Given the description of an element on the screen output the (x, y) to click on. 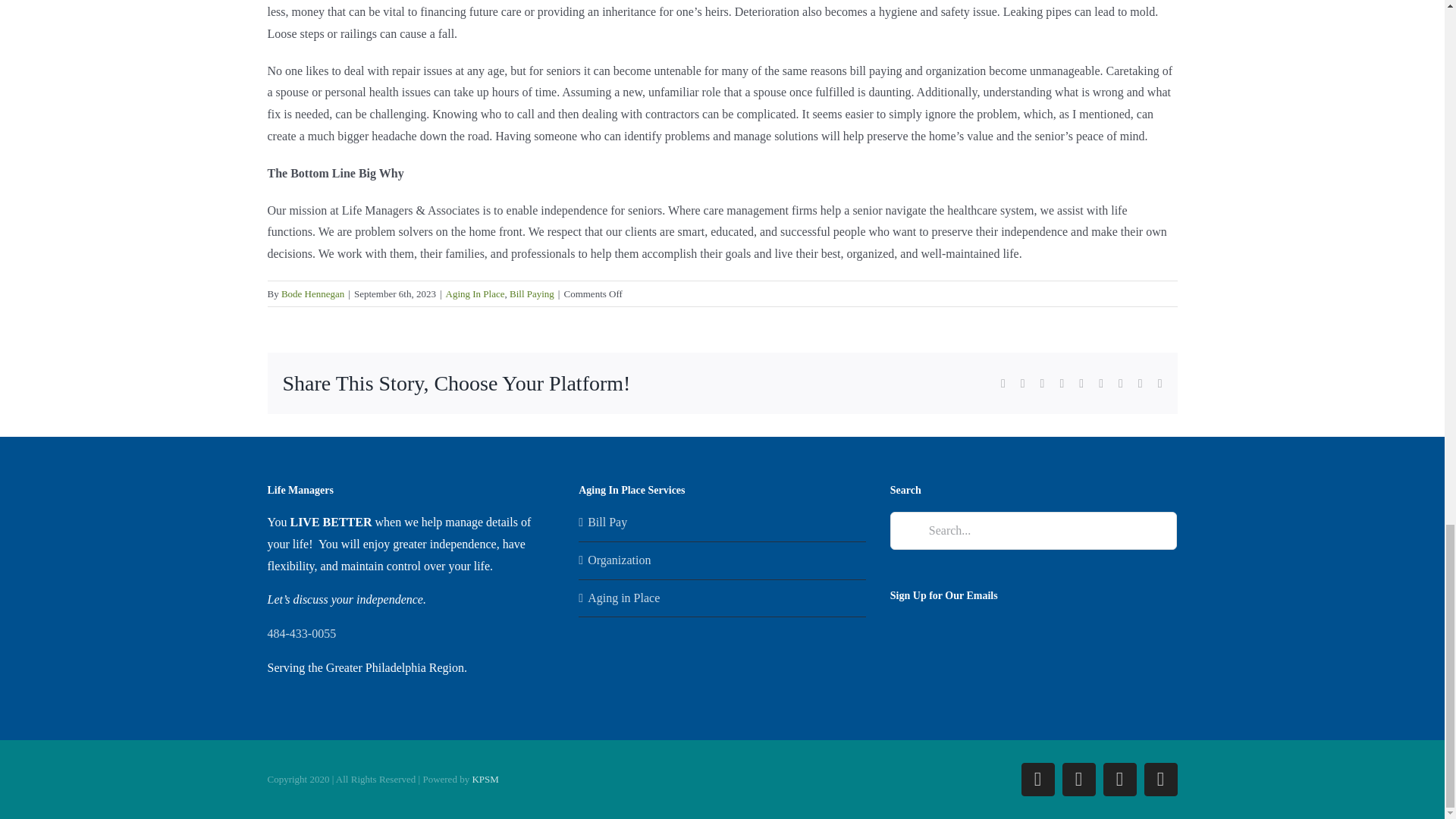
Aging In Place (475, 293)
Organization (723, 560)
Email (1159, 779)
Email (1159, 779)
KPSM (484, 778)
Facebook (1037, 779)
Posts by Bode Hennegan (312, 293)
484-433-0055 (301, 633)
LinkedIn (1077, 779)
Bode Hennegan (312, 293)
